Given the description of an element on the screen output the (x, y) to click on. 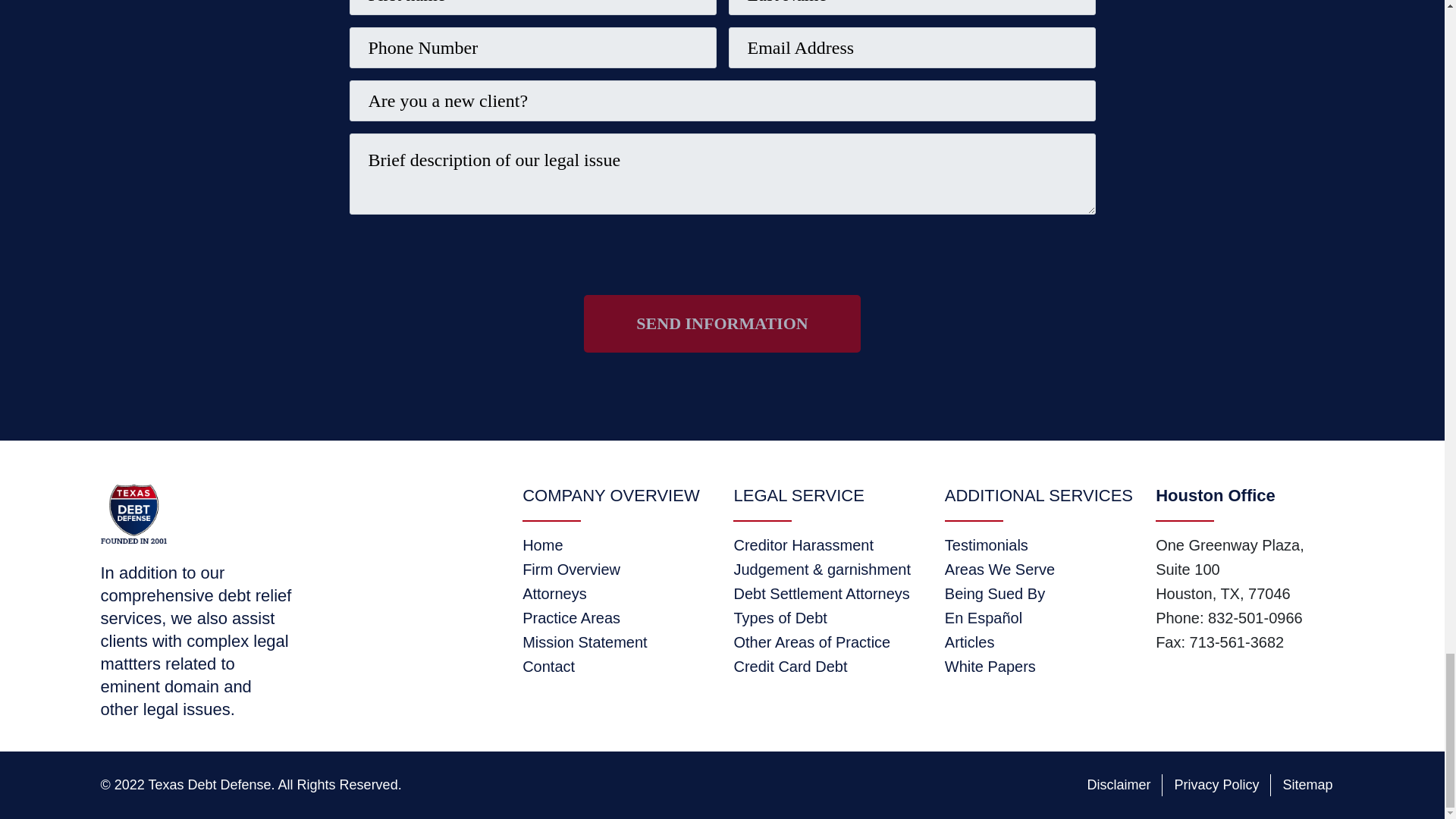
SEND INFORMATION (721, 323)
